Given the description of an element on the screen output the (x, y) to click on. 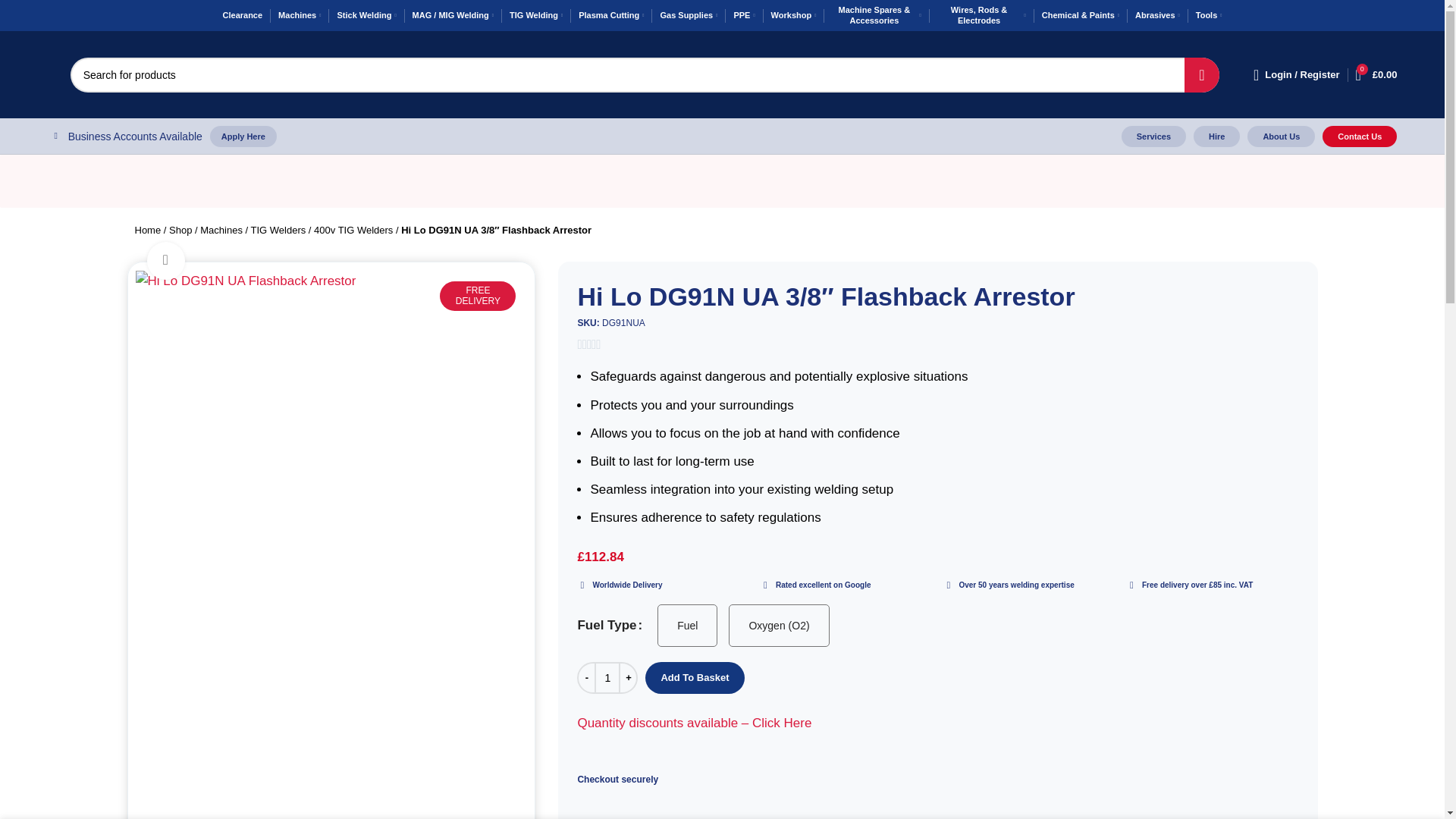
Gas Supplies (688, 15)
Clearance (242, 15)
Plasma Cutting (610, 15)
hi-lo (494, 328)
Search for products (644, 74)
Machines (299, 15)
Stick Welding (366, 15)
SKU: DG91NUA (937, 323)
My account (1297, 73)
Hi Lo DG91N UA Flashback Arrestor (245, 281)
